Given the description of an element on the screen output the (x, y) to click on. 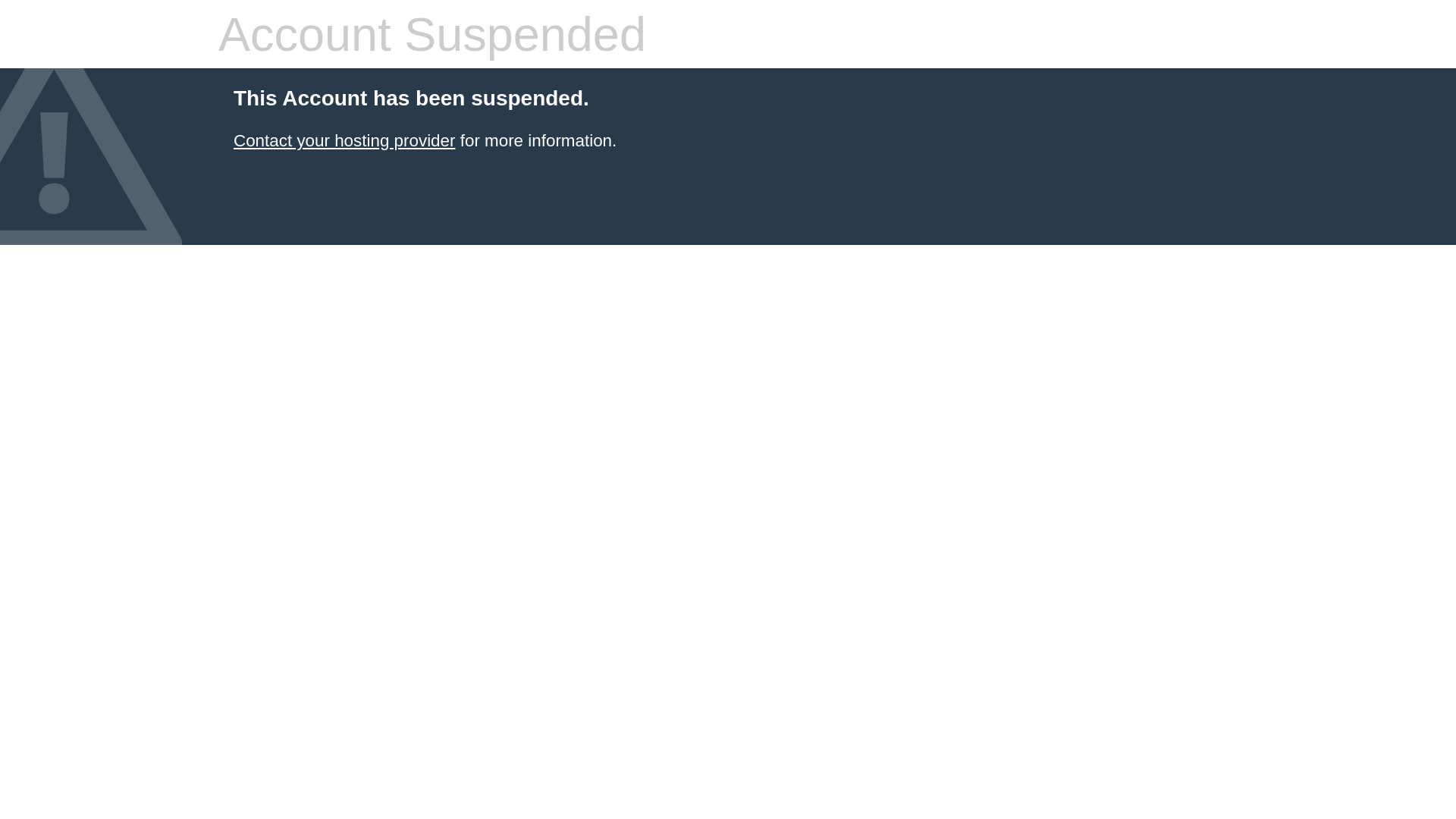
Contact your hosting provider Element type: text (344, 140)
